Given the description of an element on the screen output the (x, y) to click on. 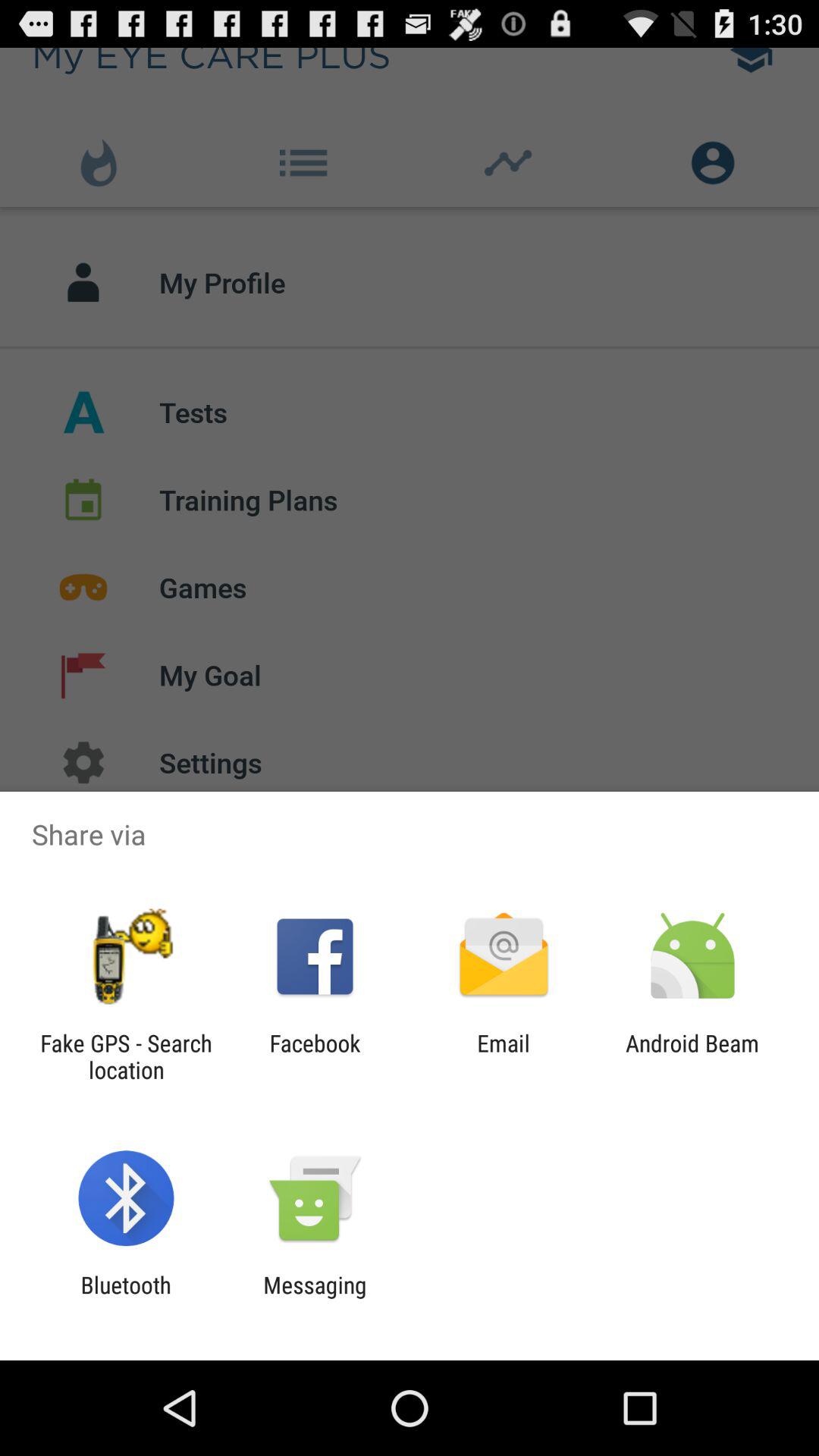
choose item next to android beam item (503, 1056)
